Given the description of an element on the screen output the (x, y) to click on. 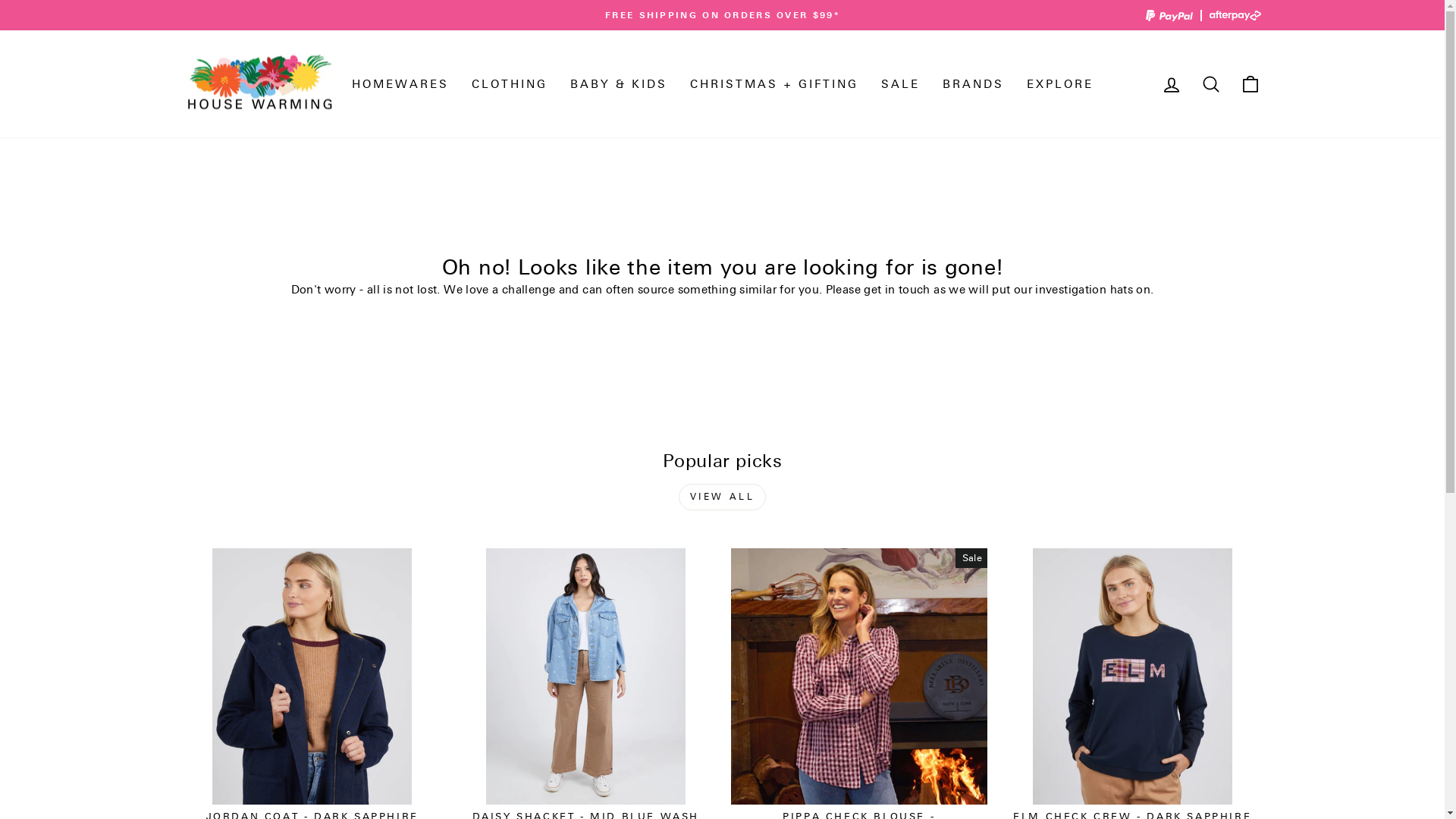
CLOTHING Element type: text (508, 83)
HOMEWARES Element type: text (399, 83)
FREE SHIPPING ON ORDERS OVER $99* Element type: text (722, 14)
CART Element type: text (1249, 83)
CHRISTMAS + GIFTING Element type: text (773, 83)
VIEW ALL Element type: text (722, 496)
SALE Element type: text (899, 83)
BABY & KIDS Element type: text (617, 83)
EXPLORE Element type: text (1059, 83)
SEARCH Element type: text (1210, 83)
LOG IN Element type: text (1170, 83)
BRANDS Element type: text (973, 83)
